Given the description of an element on the screen output the (x, y) to click on. 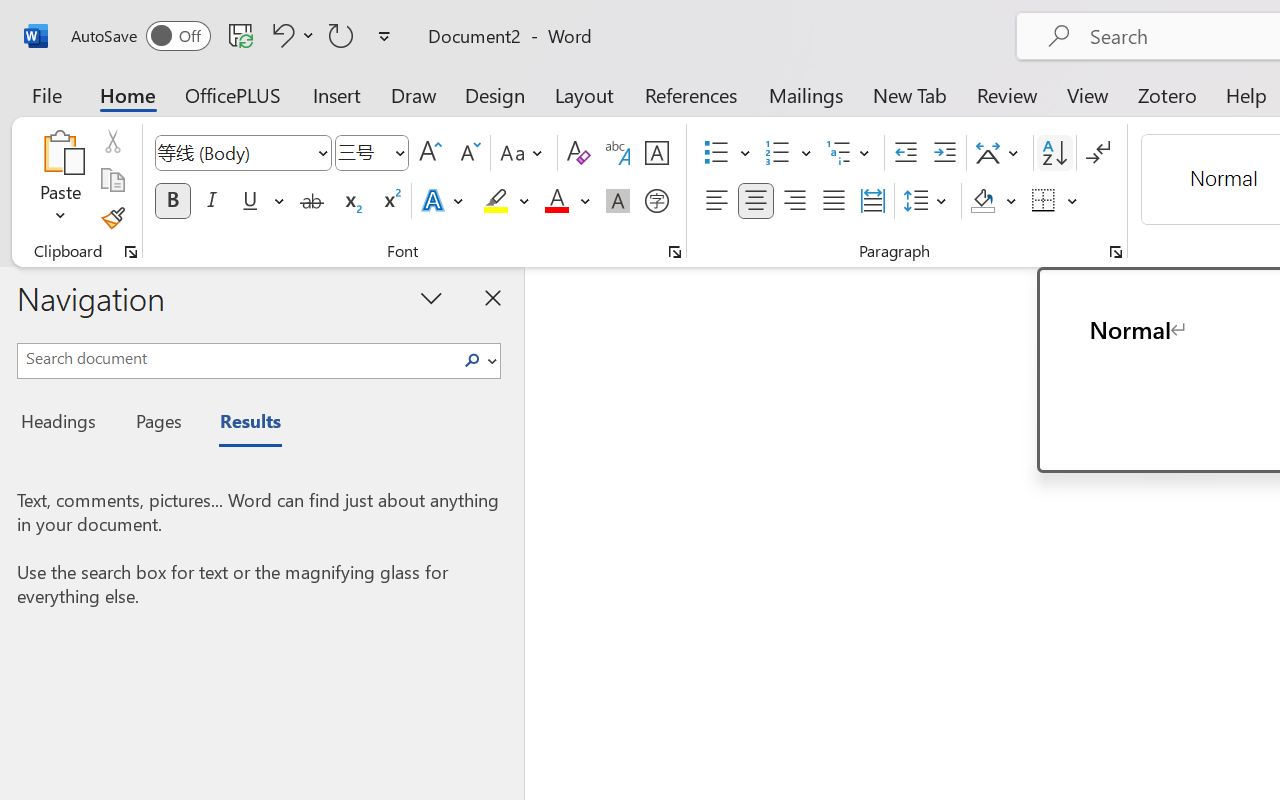
Text Effects and Typography (444, 201)
File Tab (46, 94)
Cut (112, 141)
Shading RGB(0, 0, 0) (982, 201)
Undo Style (280, 35)
Mailings (806, 94)
View (1087, 94)
OfficePLUS (233, 94)
Line and Paragraph Spacing (927, 201)
Borders (1044, 201)
Align Left (716, 201)
Copy (112, 179)
